Given the description of an element on the screen output the (x, y) to click on. 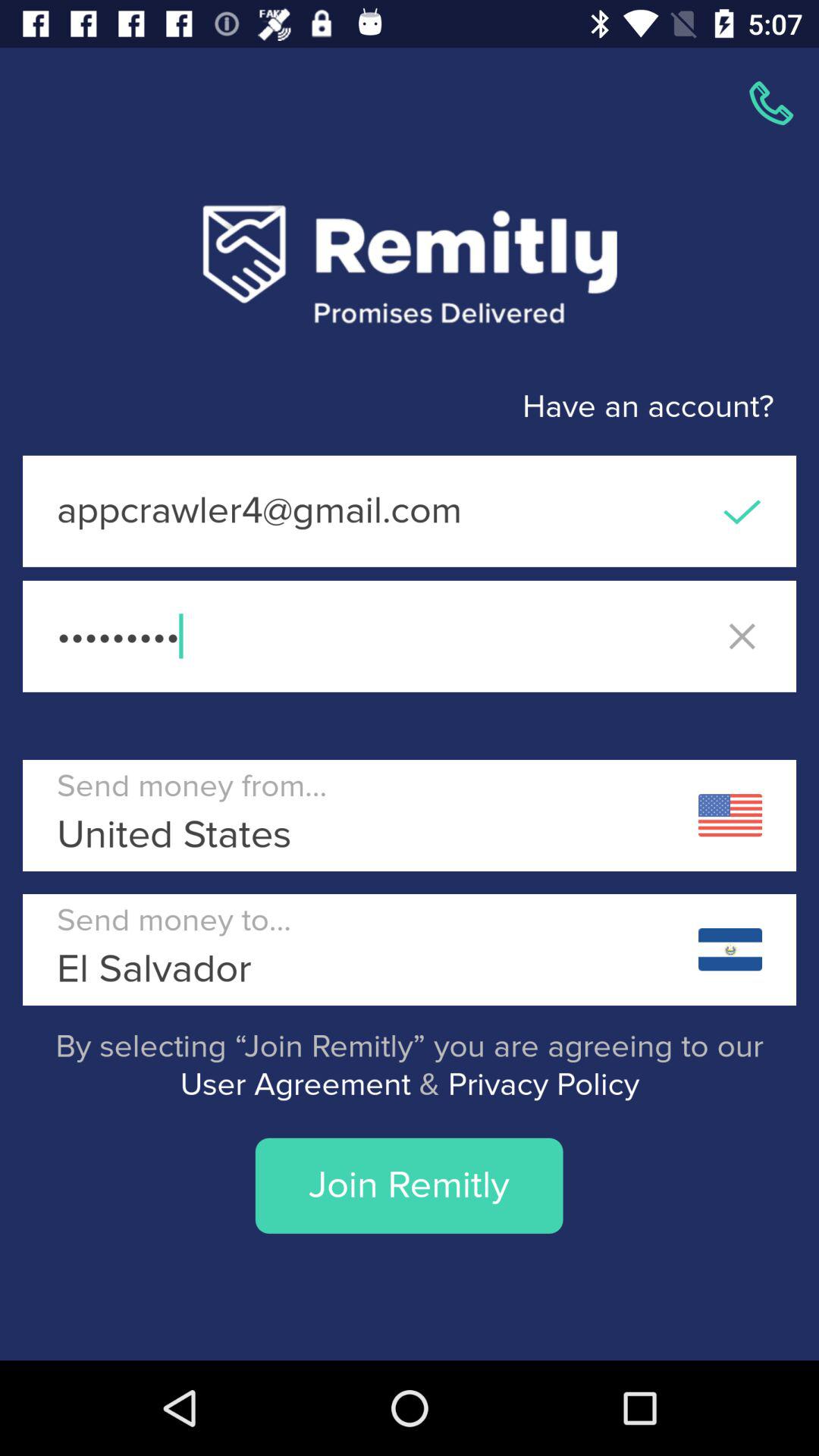
choose icon above join remitly item (409, 1065)
